Given the description of an element on the screen output the (x, y) to click on. 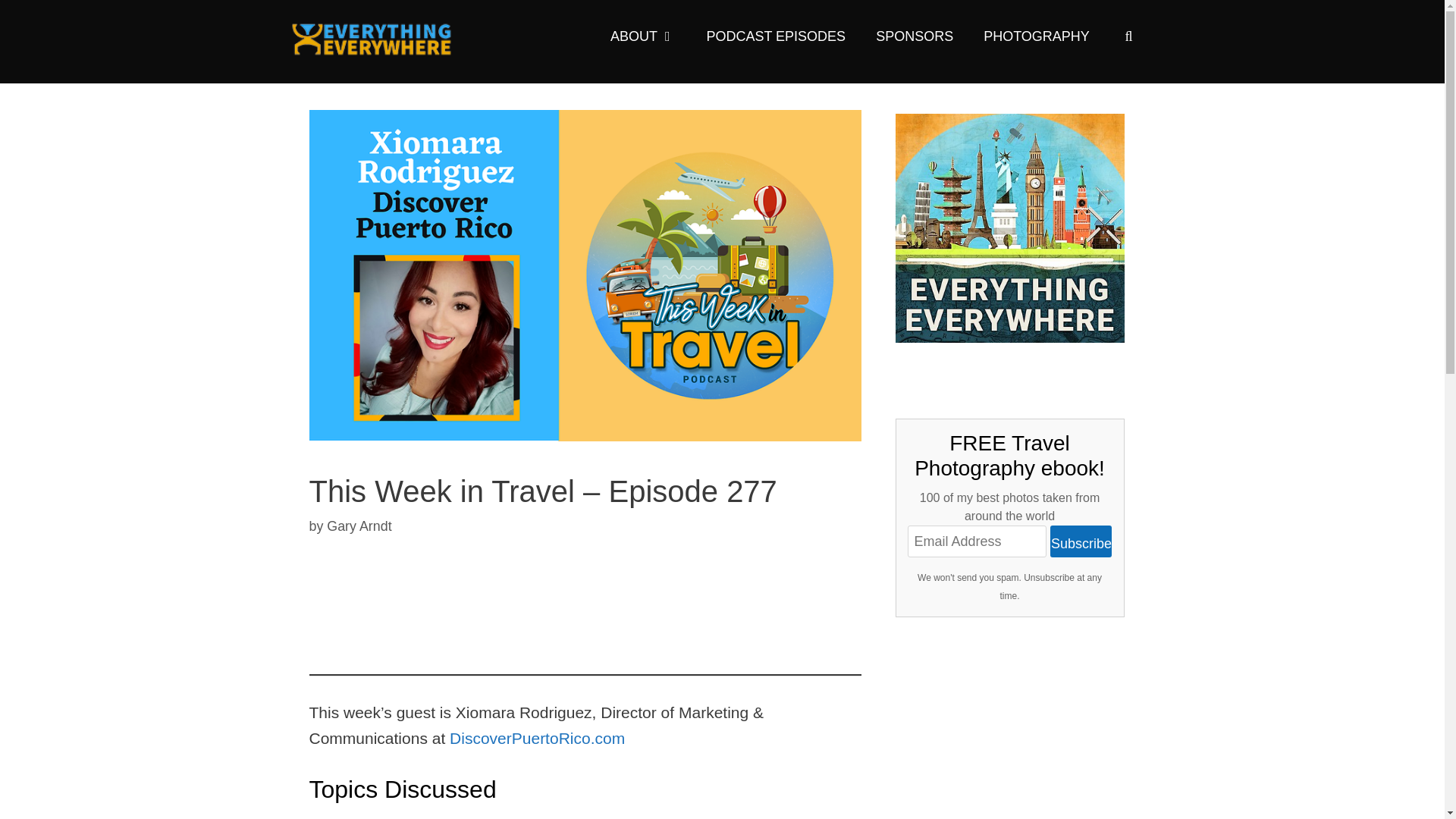
View all posts by Gary Arndt (358, 525)
Search (41, 20)
PHOTOGRAPHY (1036, 36)
Subscribe (1080, 541)
Gary Arndt (358, 525)
ABOUT (642, 36)
SPONSORS (914, 36)
PODCAST EPISODES (775, 36)
DiscoverPuertoRico.com (536, 737)
